Given the description of an element on the screen output the (x, y) to click on. 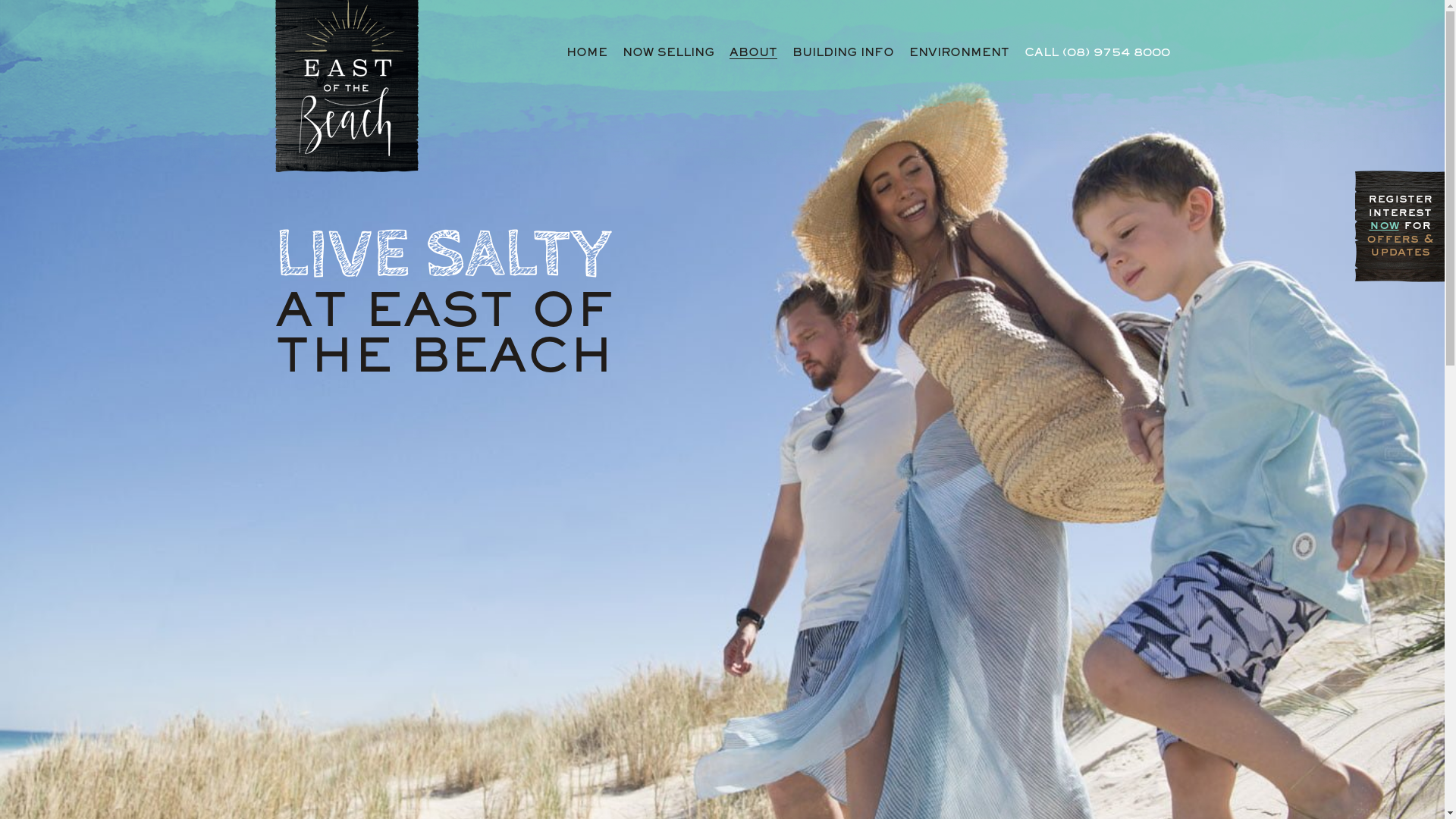
BUILDING INFO Element type: text (842, 53)
NOW SELLING Element type: text (667, 53)
CALL (08) 9754 8000 Element type: text (1096, 52)
ENVIRONMENT Element type: text (958, 53)
ABOUT Element type: text (753, 53)
HOME Element type: text (585, 53)
